Given the description of an element on the screen output the (x, y) to click on. 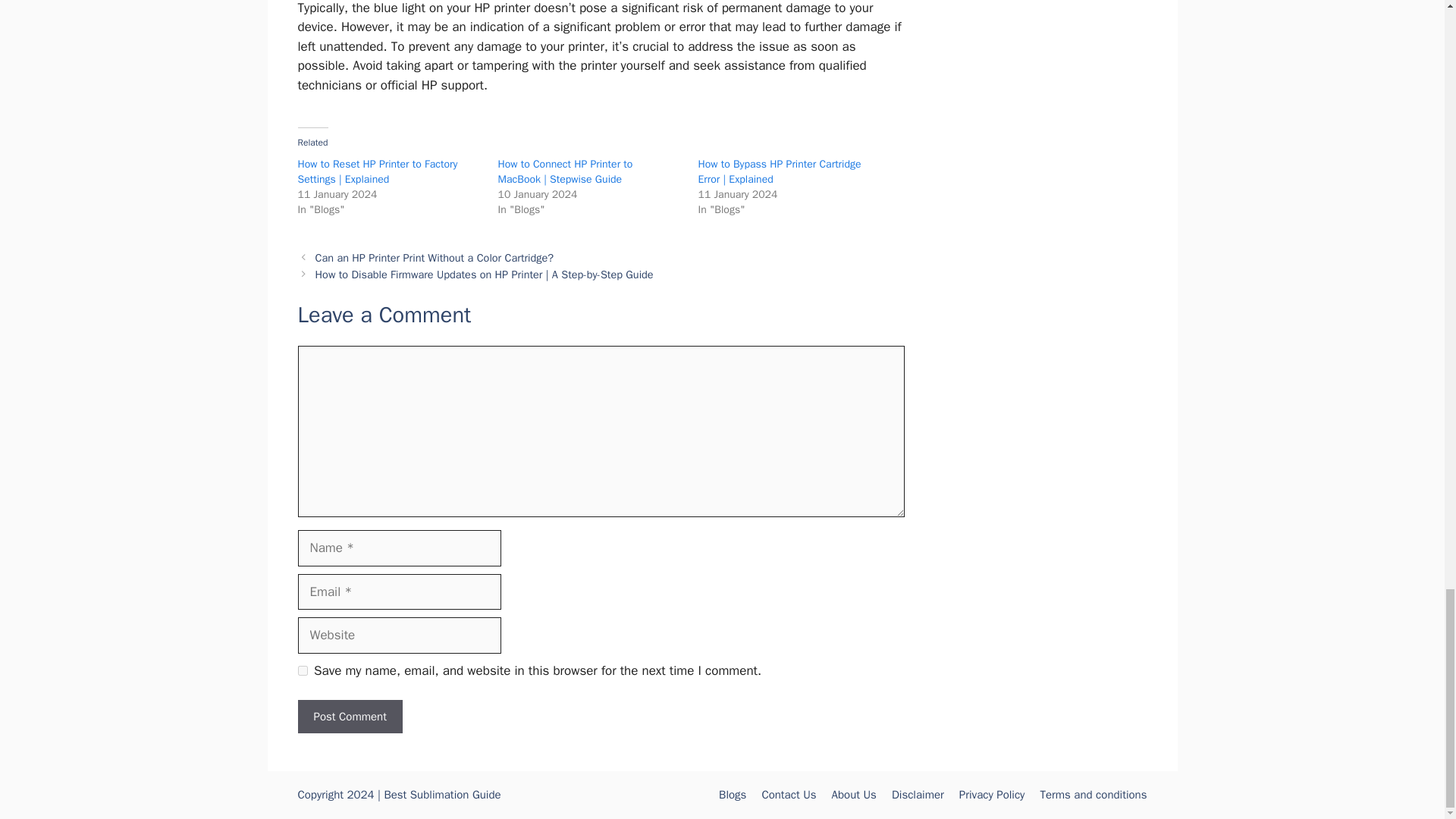
yes (302, 670)
Post Comment (349, 716)
Post Comment (349, 716)
Can an HP Printer Print Without a Color Cartridge? (434, 257)
